Given the description of an element on the screen output the (x, y) to click on. 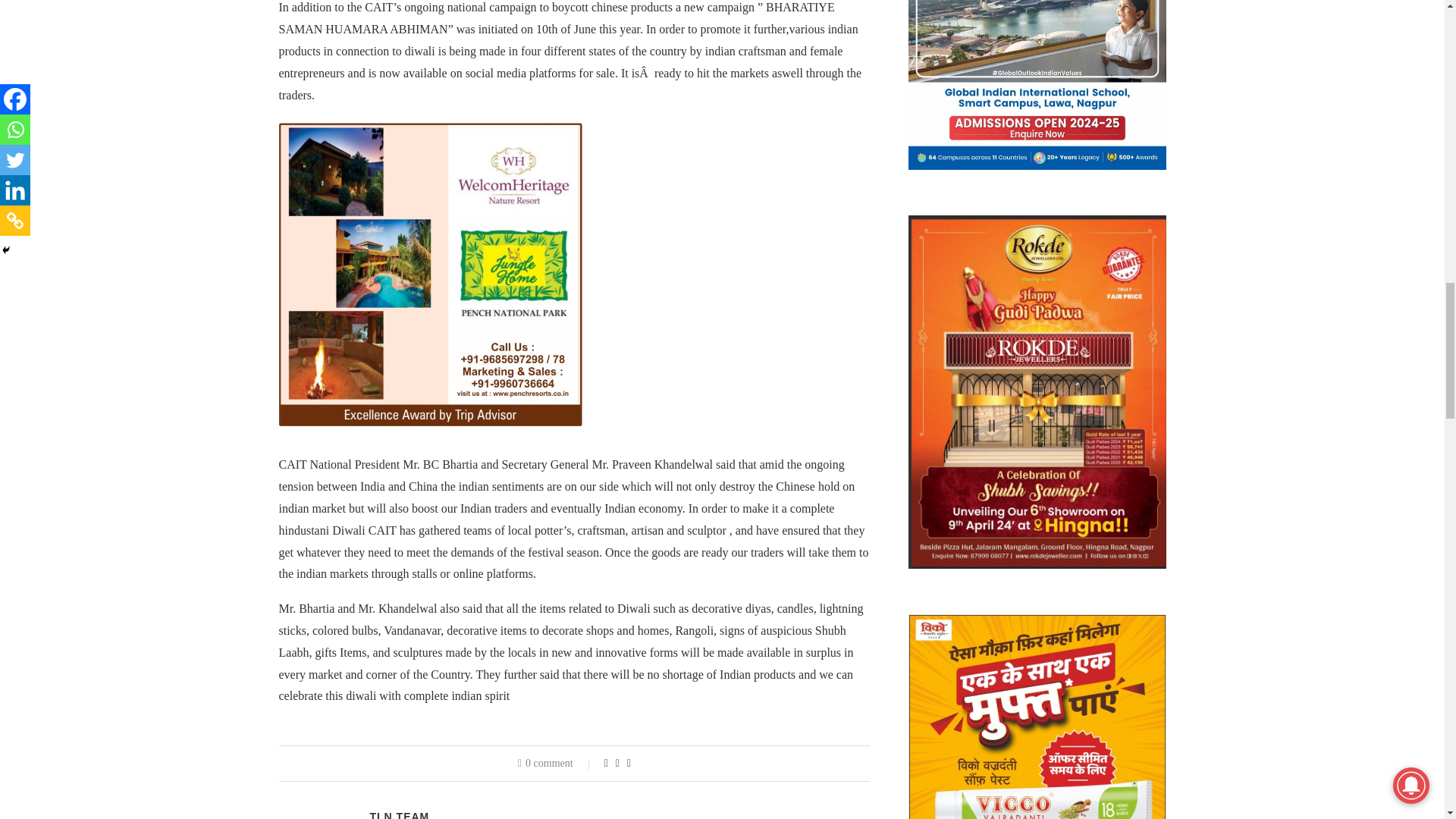
Posts by TLN Team (399, 814)
